Given the description of an element on the screen output the (x, y) to click on. 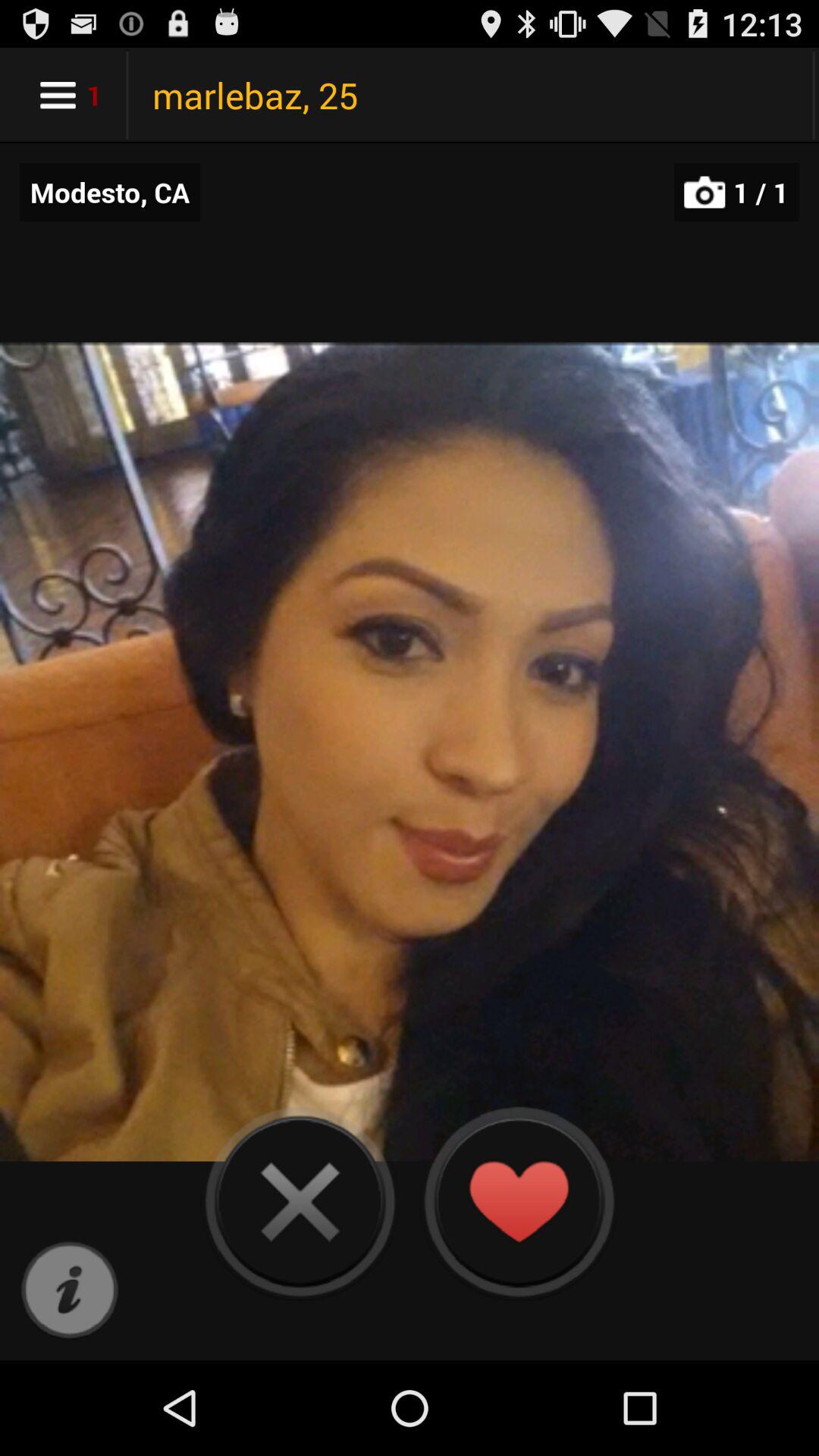
acess help menu (69, 1290)
